Given the description of an element on the screen output the (x, y) to click on. 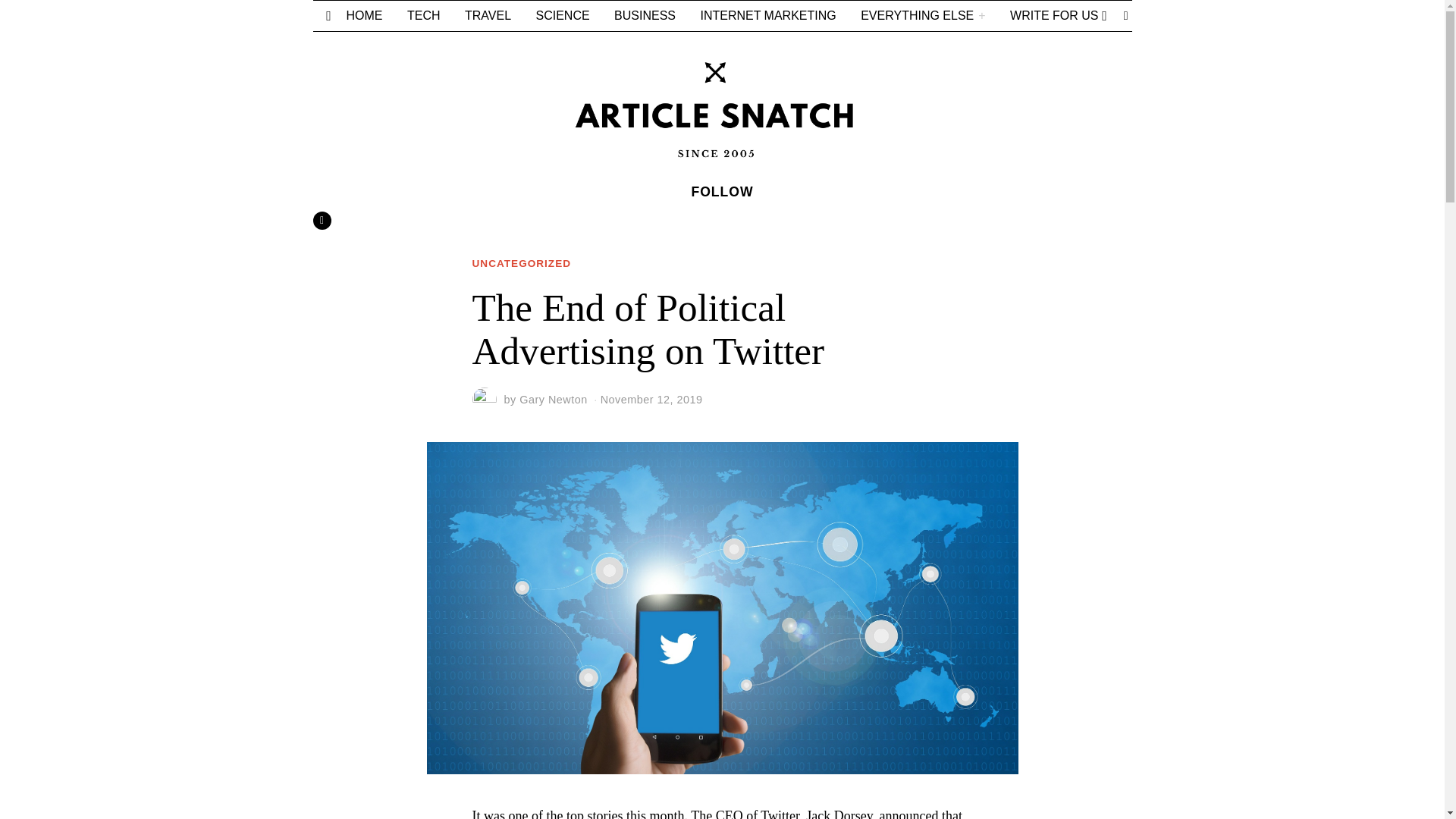
UNCATEGORIZED (520, 264)
TRAVEL (487, 15)
INTERNET MARKETING (766, 15)
BUSINESS (644, 15)
HOME (363, 15)
EVERYTHING ELSE (922, 15)
WRITE FOR US (1053, 15)
TECH (423, 15)
SCIENCE (561, 15)
Gary Newton (552, 399)
